Given the description of an element on the screen output the (x, y) to click on. 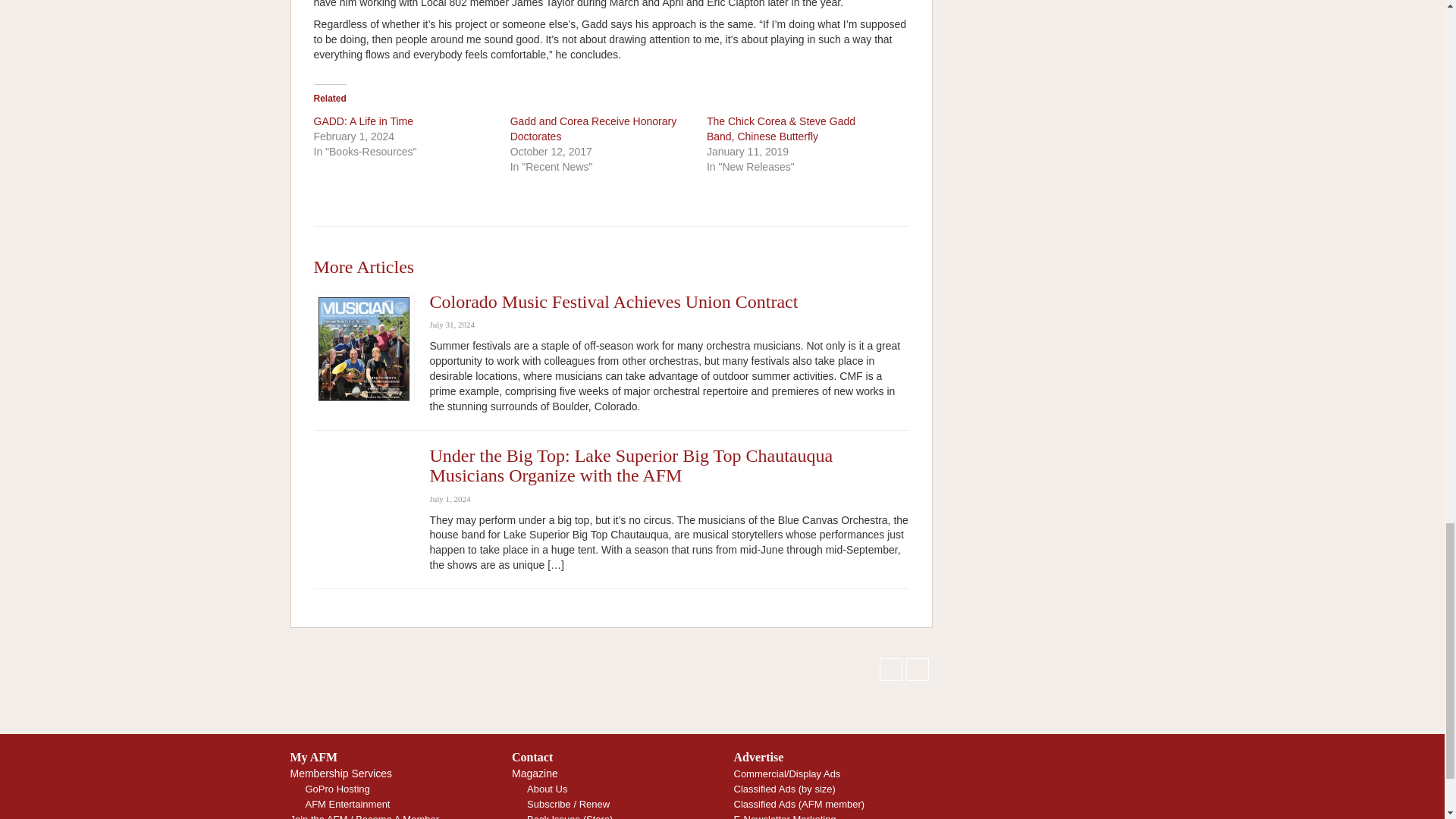
Gadd and Corea Receive Honorary Doctorates (594, 128)
GADD: A Life in Time (363, 121)
Colorado Music Festival Achieves Union Contract (613, 301)
